Given the description of an element on the screen output the (x, y) to click on. 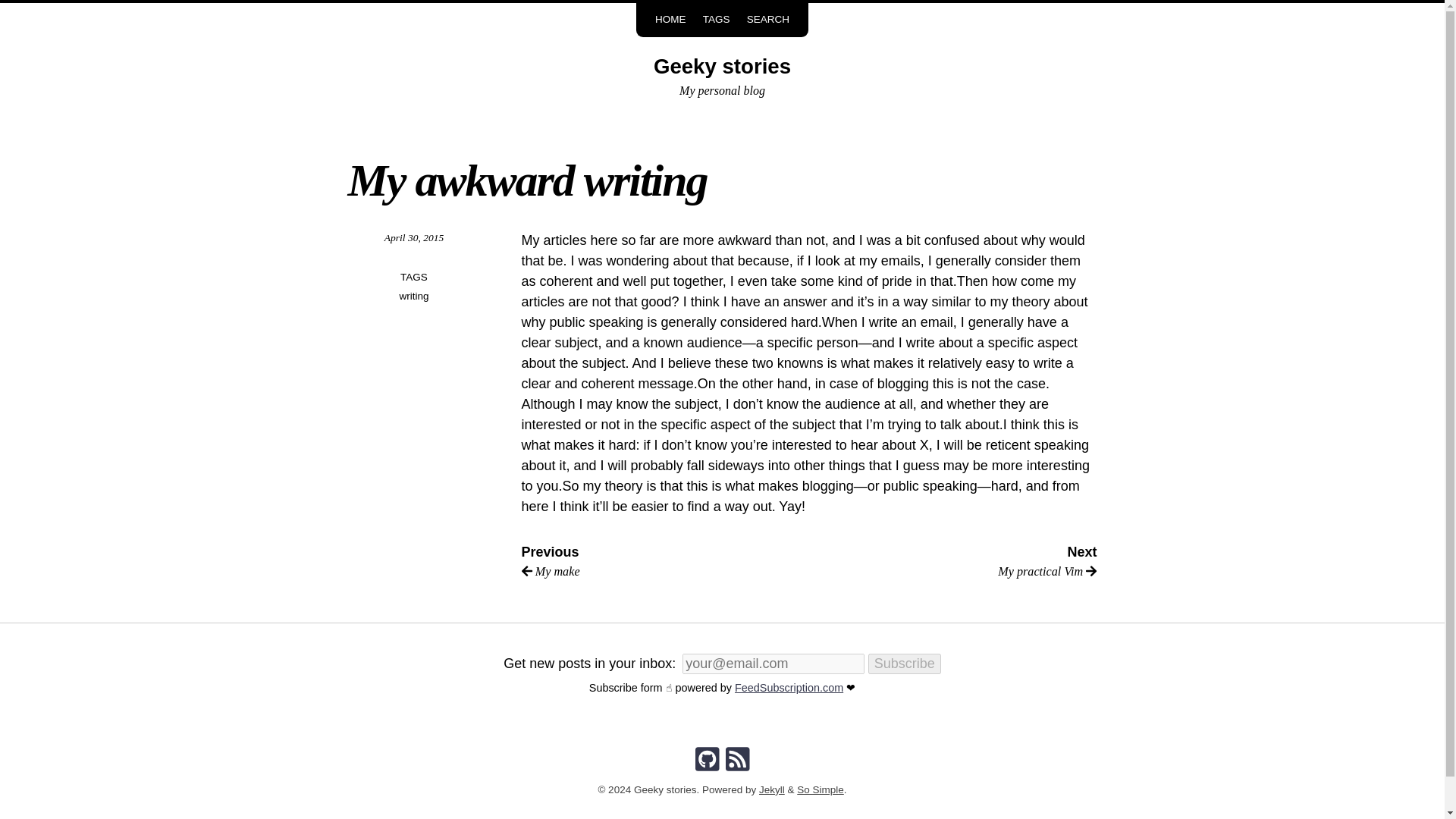
Jekyll (771, 789)
Pages tagged writing (413, 296)
writing (413, 296)
Subscribe (903, 663)
So Simple (820, 789)
Feed (737, 760)
April 30, 2015 (414, 237)
GitHub (706, 760)
Geeky stories (953, 562)
FeedSubscription.com (721, 65)
